Given the description of an element on the screen output the (x, y) to click on. 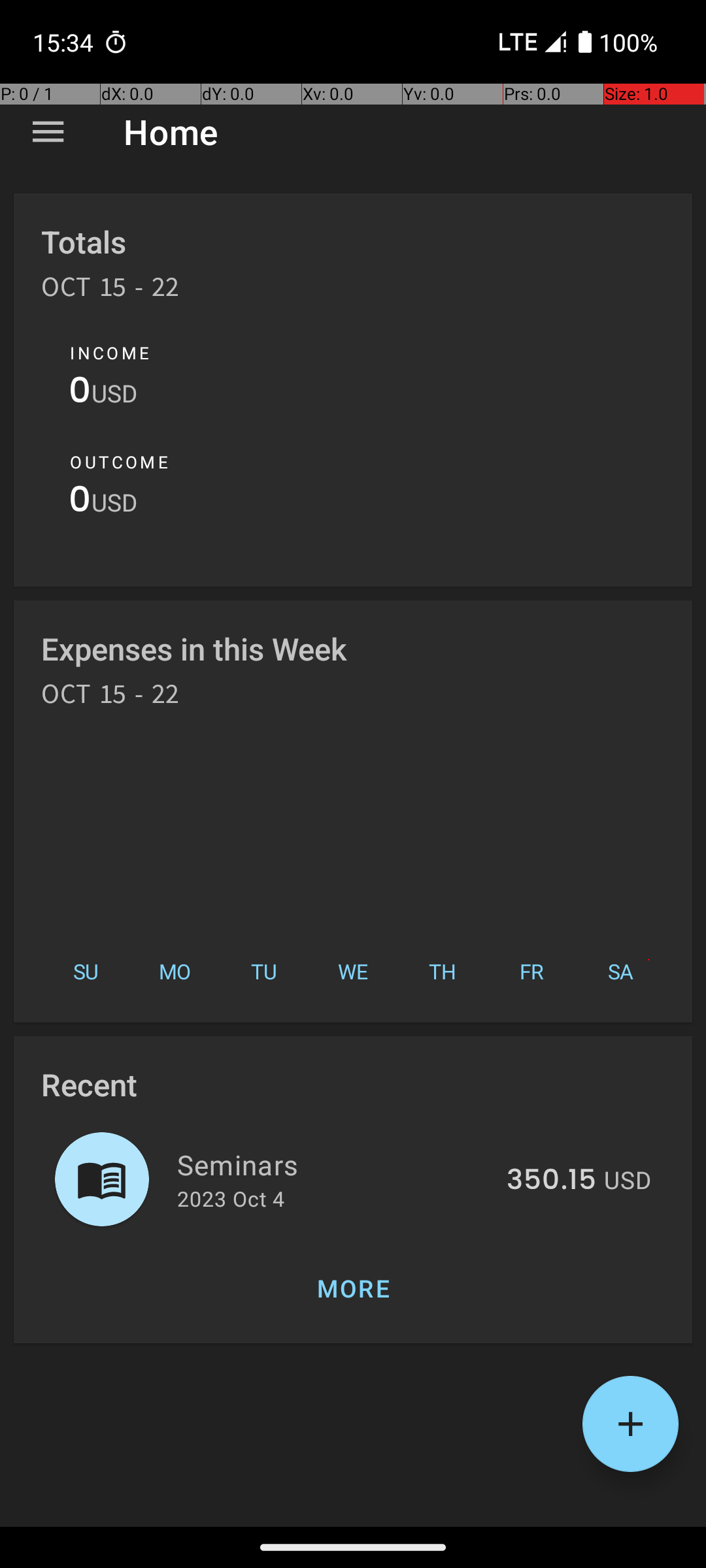
Seminars Element type: android.widget.TextView (334, 1164)
2023 Oct 4 Element type: android.widget.TextView (230, 1198)
350.15 Element type: android.widget.TextView (550, 1180)
